Given the description of an element on the screen output the (x, y) to click on. 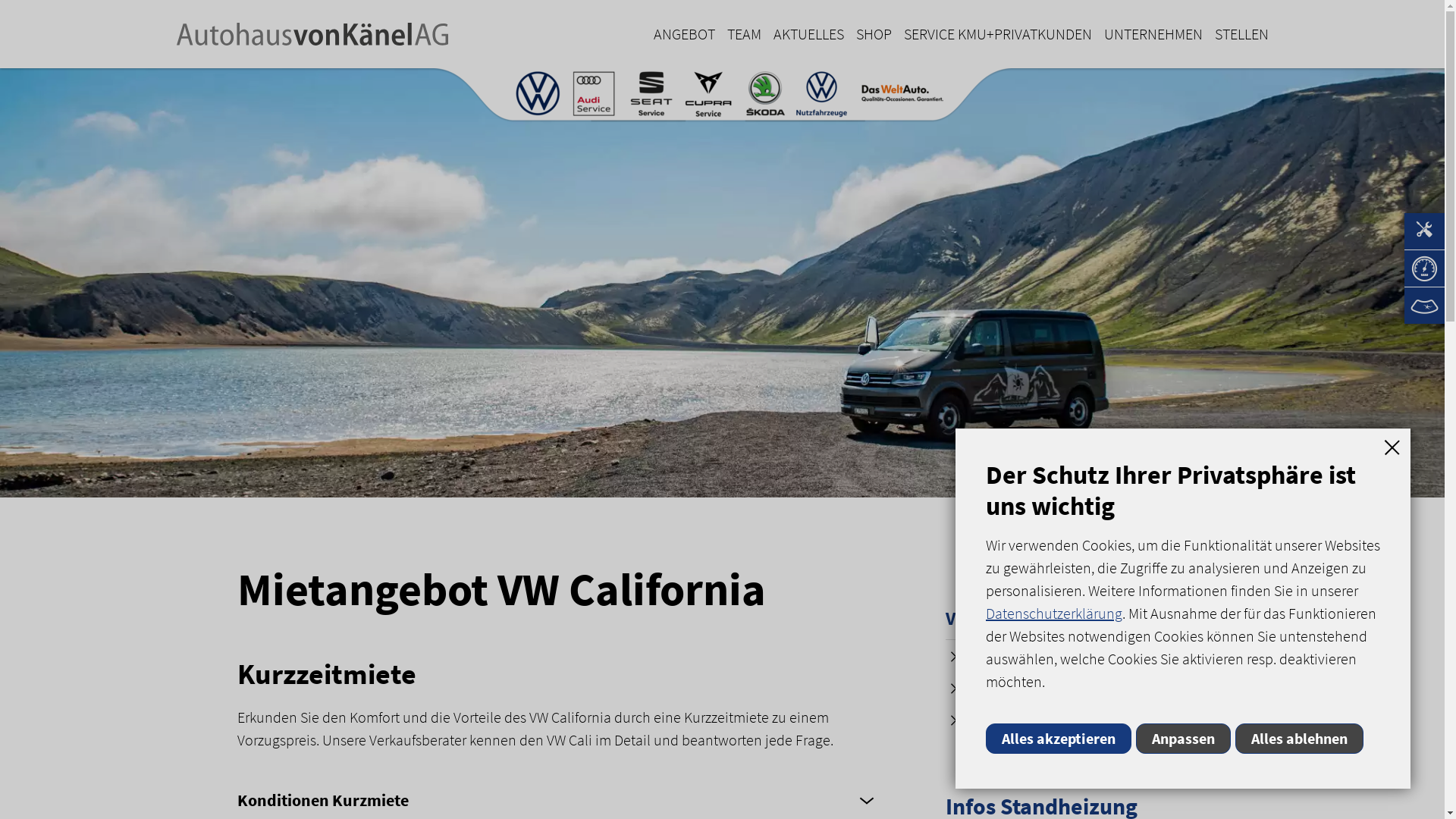
SHOP Element type: text (873, 33)
Alles akzeptieren Element type: text (1058, 738)
Unsere Marken Element type: hover (721, 95)
STELLEN Element type: text (1238, 33)
ANGEBOT Element type: text (684, 33)
AKTUELLES Element type: text (808, 33)
SERVICE KMU+PRIVATKUNDEN Element type: text (997, 33)
Anpassen Element type: text (1185, 737)
Seitennavigation Element type: hover (1424, 268)
UNTERNEHMEN Element type: text (1153, 33)
Anpassen Element type: text (1182, 738)
Alles ablehnen Element type: text (1299, 738)
Mietangebot Element type: text (996, 686)
TEAM Element type: text (743, 33)
Grand California Element type: text (1004, 718)
VW California Element type: text (999, 618)
Impression aus Island Element type: hover (722, 282)
Zur Startseite Element type: hover (311, 33)
